Given the description of an element on the screen output the (x, y) to click on. 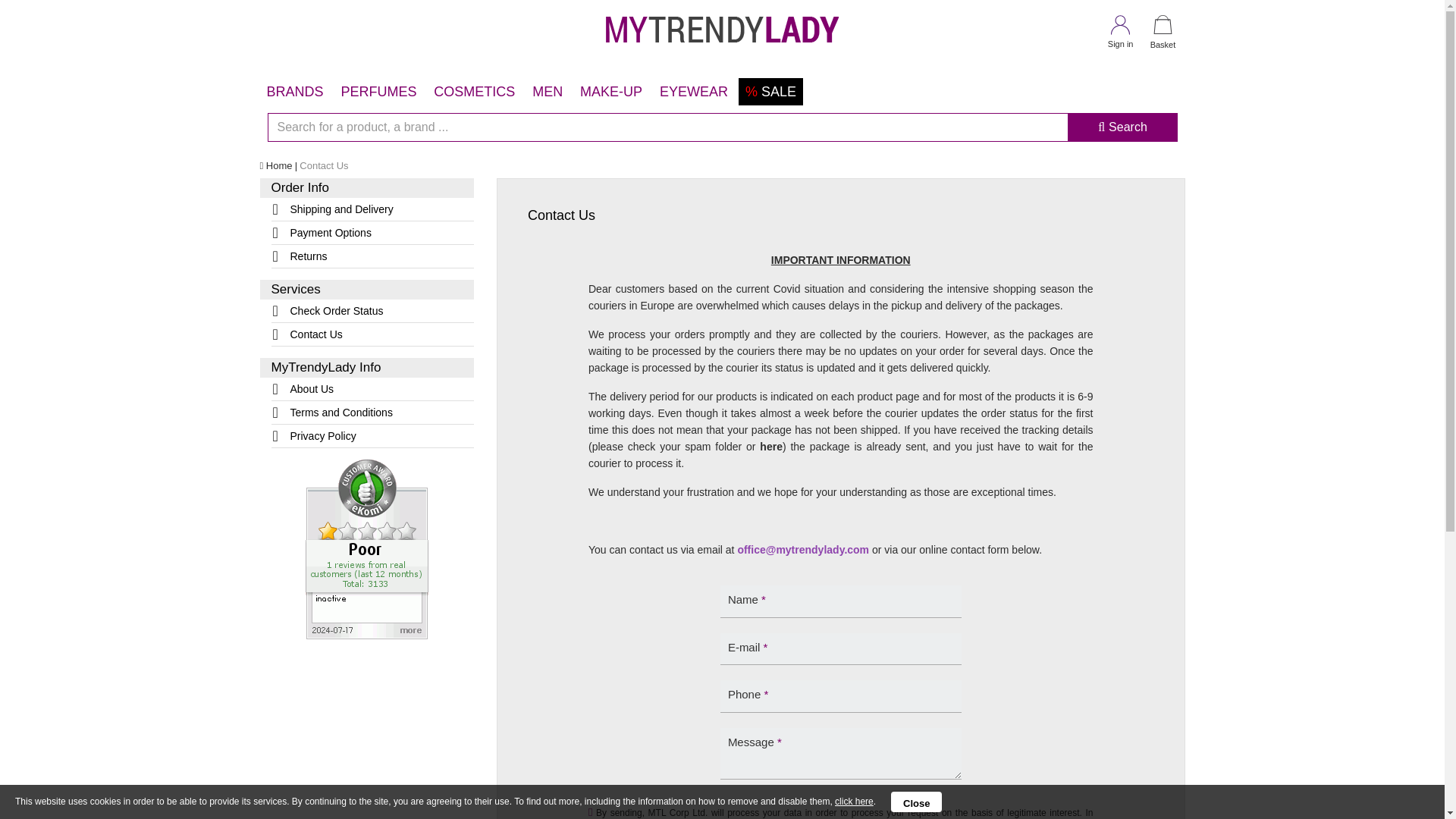
click here (853, 801)
here (853, 801)
Customer review: inactive (366, 548)
Close (916, 801)
